Given the description of an element on the screen output the (x, y) to click on. 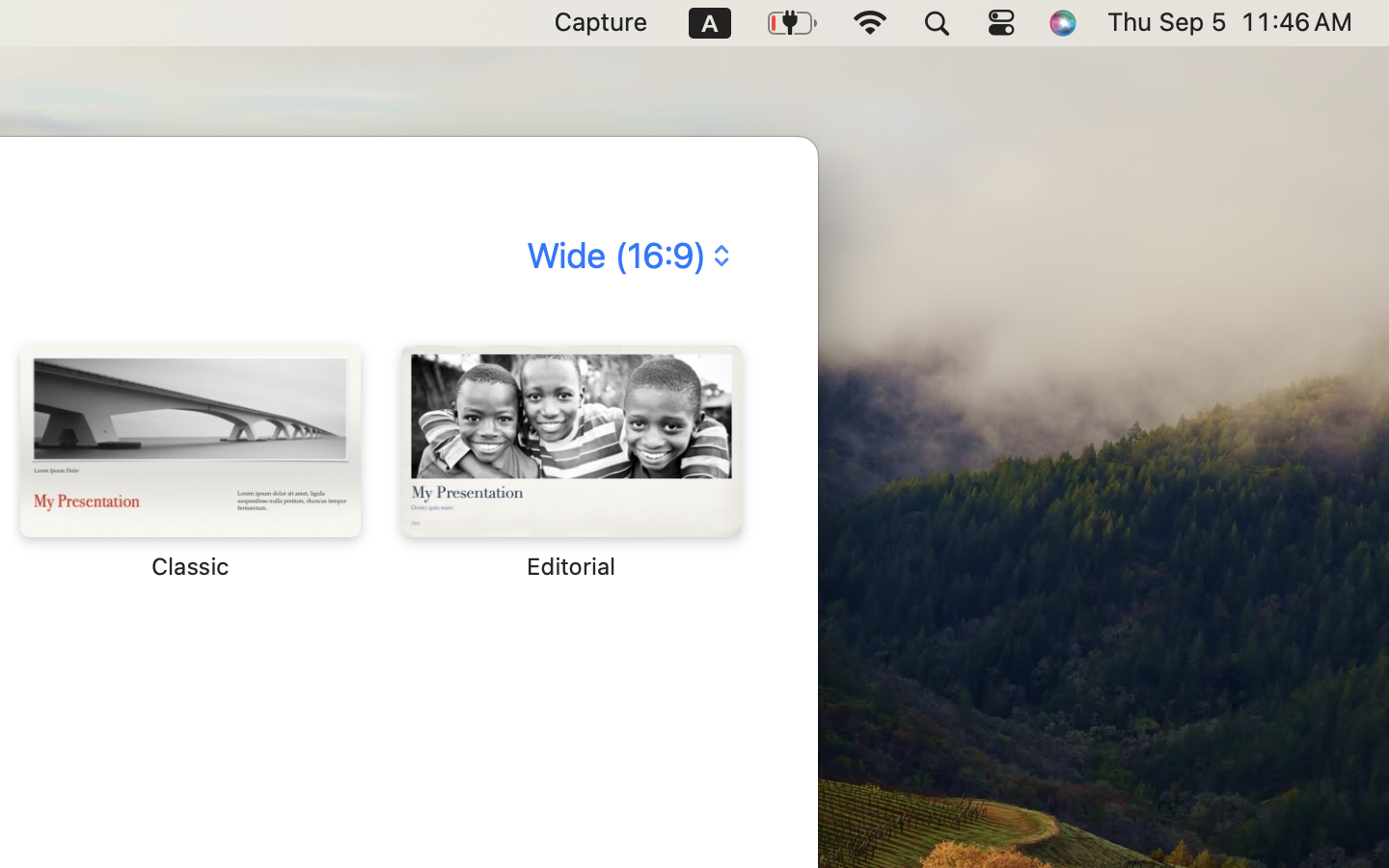
‎⁨Classic⁩ Element type: AXButton (189, 462)
‎⁨Editorial⁩ Element type: AXButton (569, 462)
Wide (16:9) Element type: AXPopUpButton (625, 255)
